Given the description of an element on the screen output the (x, y) to click on. 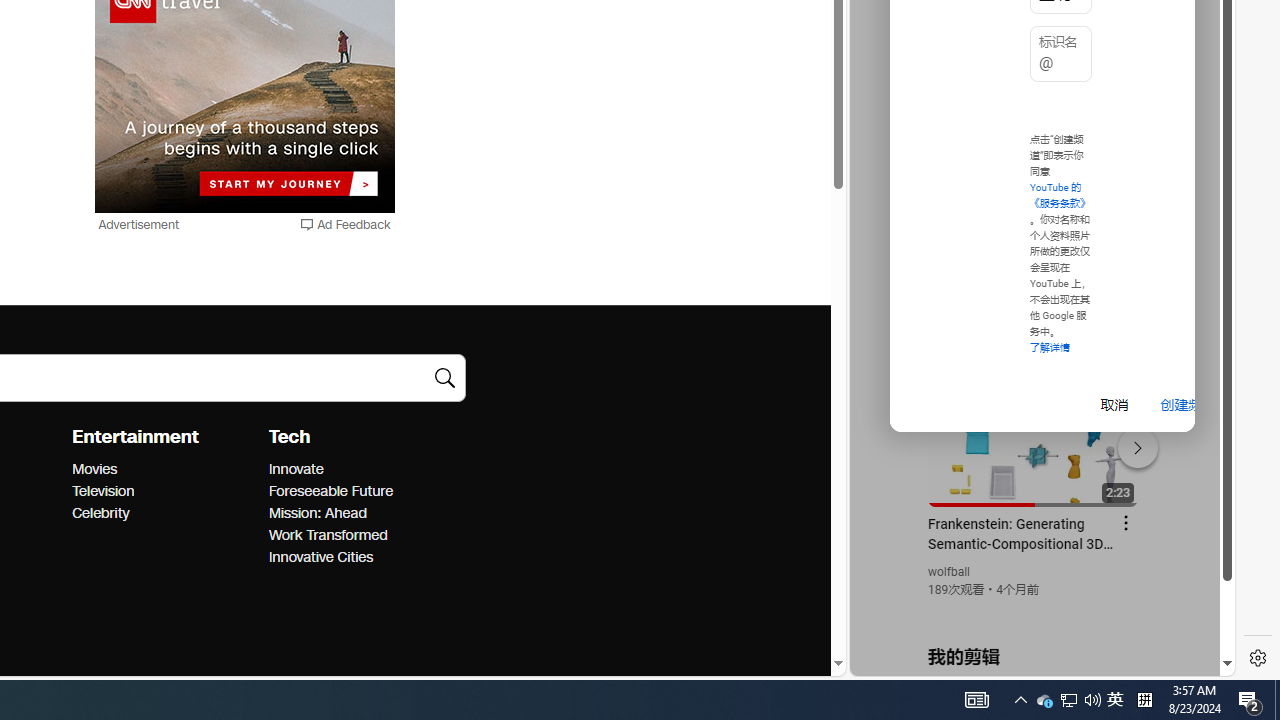
Tech Foreseeable Future (330, 491)
Innovate (360, 469)
Tech Mission: Ahead (317, 512)
Click to scroll right (1196, 83)
Movies (164, 469)
Tech Work Transformed (327, 535)
Celebrity (164, 513)
Foreseeable Future (360, 492)
Television (164, 492)
